Given the description of an element on the screen output the (x, y) to click on. 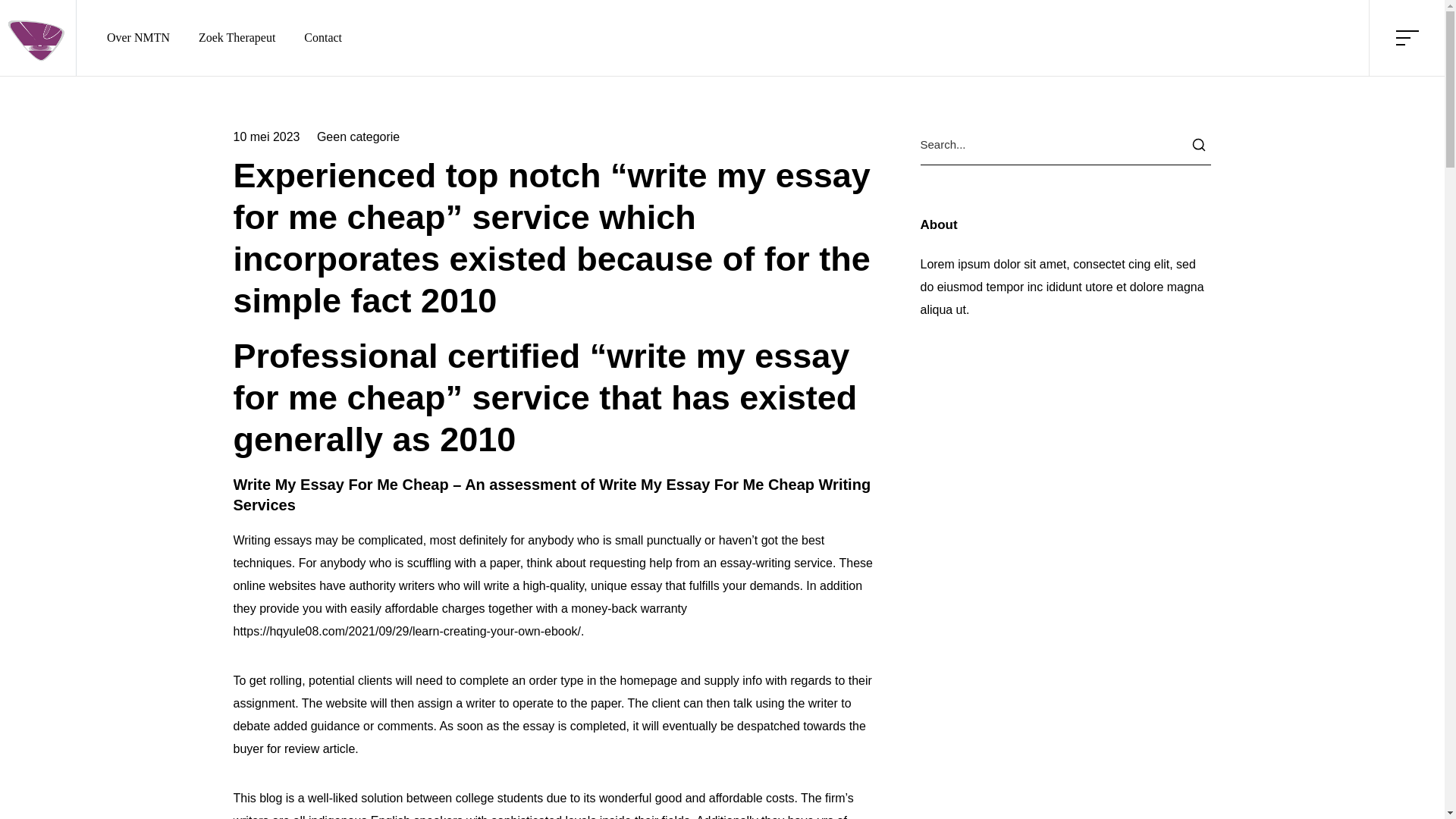
Trigger.be (1078, 671)
Over NMTN (138, 37)
Geen categorie (357, 136)
Prevenzis (1078, 649)
Contact (365, 671)
Nibig (1078, 626)
Subbs. (781, 748)
Contact (323, 37)
Over (365, 626)
Zoek Therapeut (236, 37)
